Given the description of an element on the screen output the (x, y) to click on. 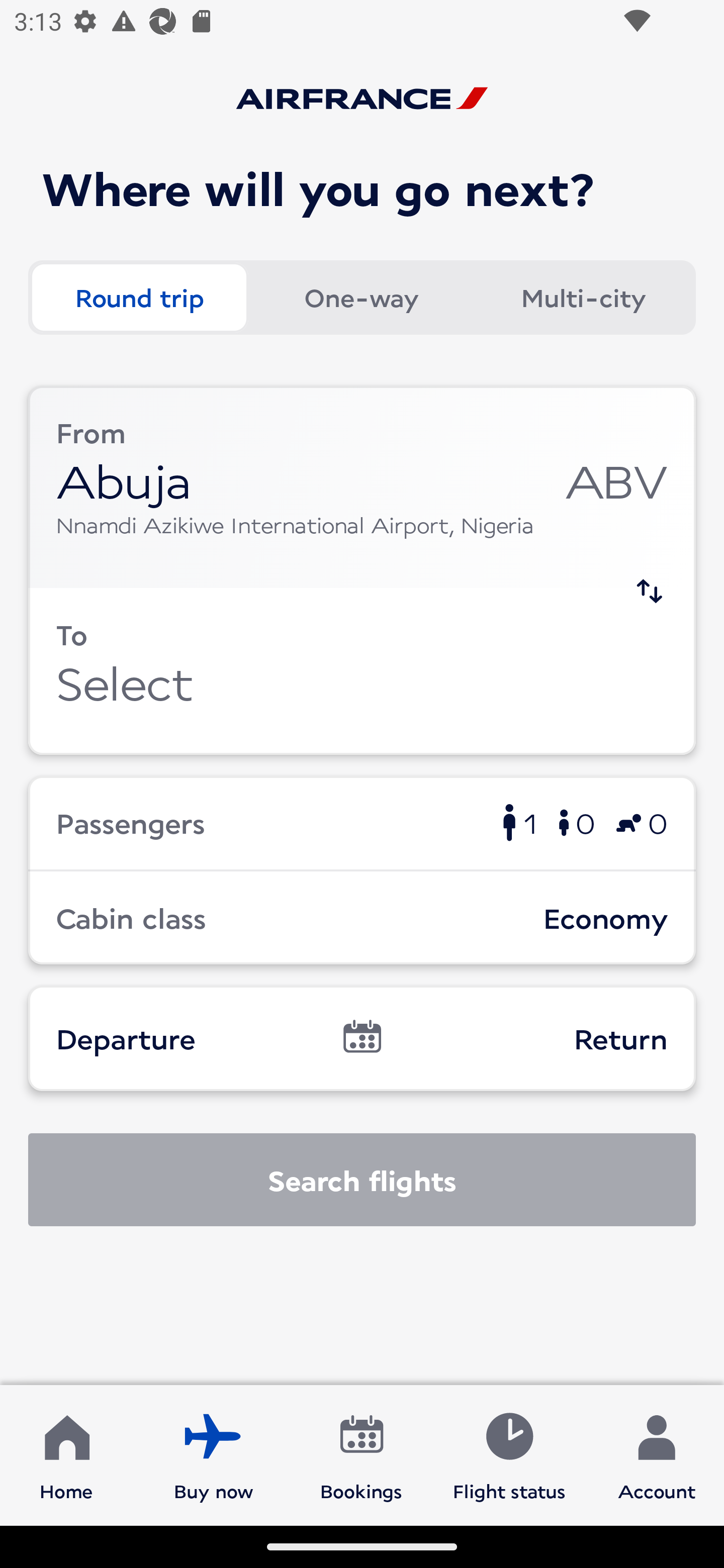
Round trip (139, 297)
One-way (361, 297)
Multi-city (583, 297)
To Select (361, 671)
Passengers 1 0 0 (361, 822)
Cabin class Economy (361, 917)
Departure Return (361, 1038)
Search flights (361, 1179)
Home (66, 1454)
Bookings (361, 1454)
Flight status (509, 1454)
Account (657, 1454)
